Given the description of an element on the screen output the (x, y) to click on. 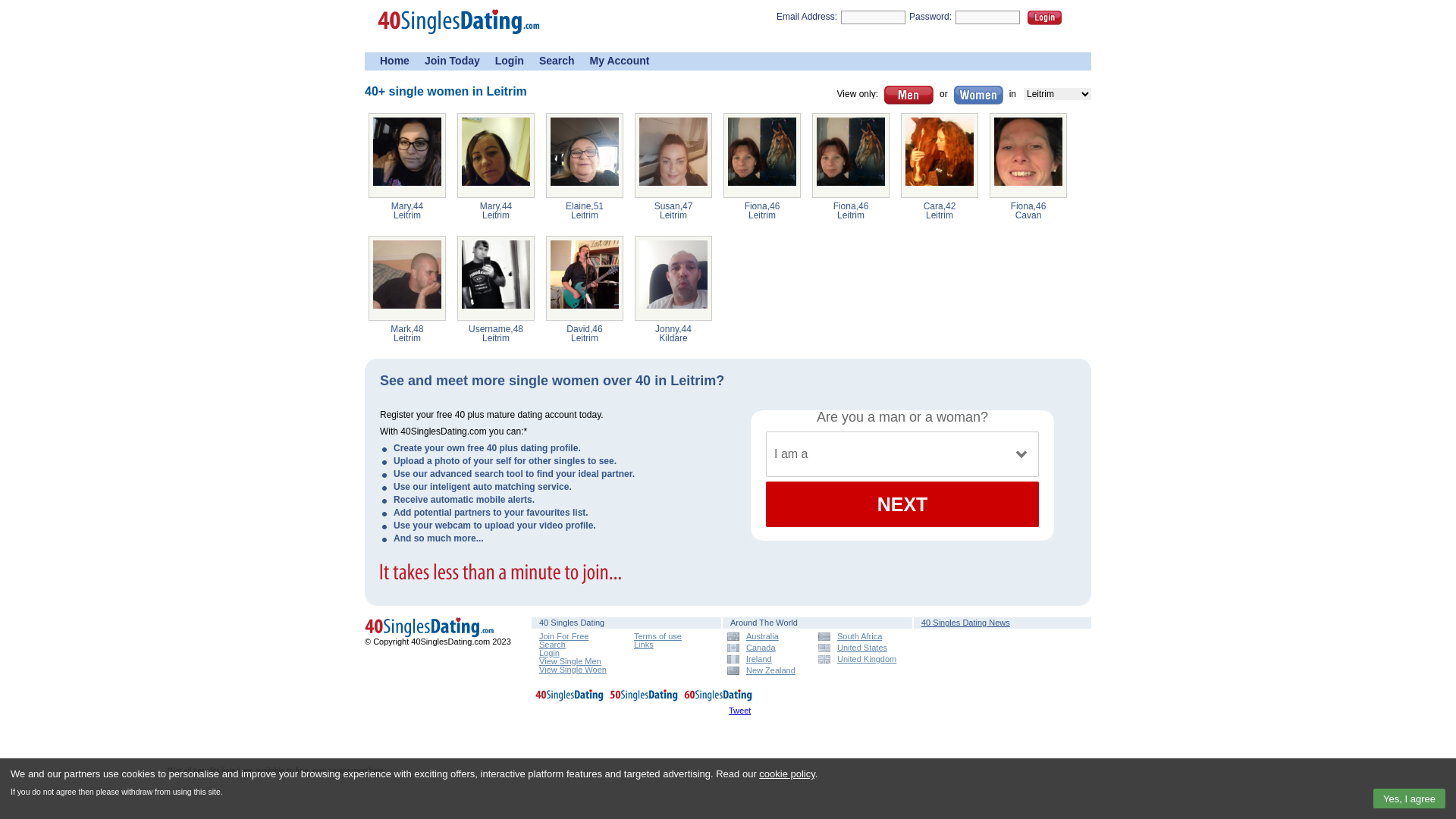
New Zealand Element type: text (766, 670)
50 Singles Dating Element type: hover (643, 697)
Cara, 42 from Carrick-on-Shannon, Leitrim Element type: hover (939, 154)
Links Element type: text (643, 644)
Search Element type: text (556, 60)
Fiona, 46 from Ballinamore, Leitrim Element type: hover (850, 154)
Login Element type: text (549, 652)
NEXT Element type: text (901, 504)
Canada Element type: text (766, 647)
View Single Men Element type: text (570, 660)
40 Singles Dating News Element type: text (965, 622)
Login Element type: text (509, 60)
Fiona, 46 from Ballinamore, Leitrim Element type: hover (761, 154)
My Account Element type: text (619, 60)
South Africa Element type: text (857, 636)
Tweet Element type: text (739, 710)
United States Element type: text (857, 647)
Elaine, 51 from Mayo, Leitrim Element type: hover (584, 154)
Fiona, 46 from Ballyconnell, Cavan Element type: hover (1027, 154)
40 Singles Dating Element type: hover (432, 634)
40 Singles Dating Element type: hover (463, 38)
40 Singles Dating Element type: hover (569, 697)
Women Element type: text (978, 94)
United Kingdom Element type: text (857, 659)
40 Singles Dating Element type: hover (432, 627)
Join For Free Element type: text (563, 635)
60 Singles Dating Element type: hover (718, 697)
Susan, 47 from Carrick-on-Shannon, Leitrim Element type: hover (673, 154)
Mark, 48 from Ballinamore, Leitrim Element type: hover (406, 277)
Home Element type: text (394, 60)
Jonny, 44 from Moone, Kildare Element type: hover (673, 277)
Username, 48 from Carrick-on-Shannon, Leitrim Element type: hover (495, 277)
Search Element type: text (552, 644)
Men Element type: text (908, 94)
Yes, I agree Element type: text (1409, 798)
Mary, 44 from Carrick-on-Shannon, Leitrim Element type: hover (406, 154)
Terms of use Element type: text (657, 635)
Ireland Element type: text (766, 659)
View Single Woen Element type: text (572, 669)
cookie policy Element type: text (786, 773)
David, 46 from Carrick-on-Shannon, Leitrim Element type: hover (584, 277)
Australia Element type: text (766, 636)
Mary, 44 from Carrick-on-Shannon, Leitrim Element type: hover (495, 154)
Login Element type: text (1044, 17)
Join Today Element type: text (452, 60)
